Given the description of an element on the screen output the (x, y) to click on. 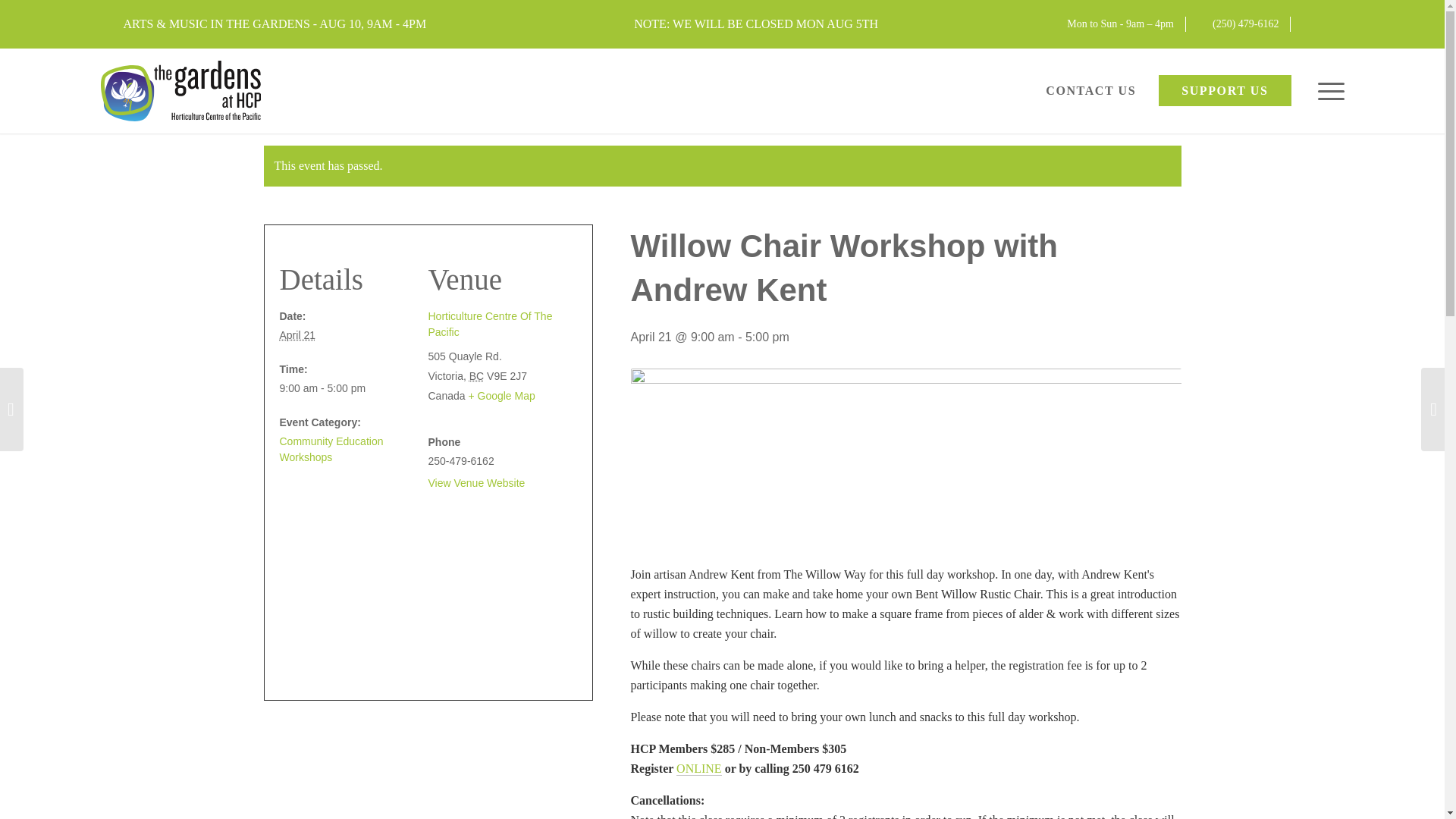
2024-04-21 (346, 388)
CONTACT US (1090, 90)
logo (180, 90)
BC (475, 376)
logo (180, 90)
2024-04-21 (296, 335)
Click to view a Google Map (500, 395)
SUPPORT US (1224, 90)
